Given the description of an element on the screen output the (x, y) to click on. 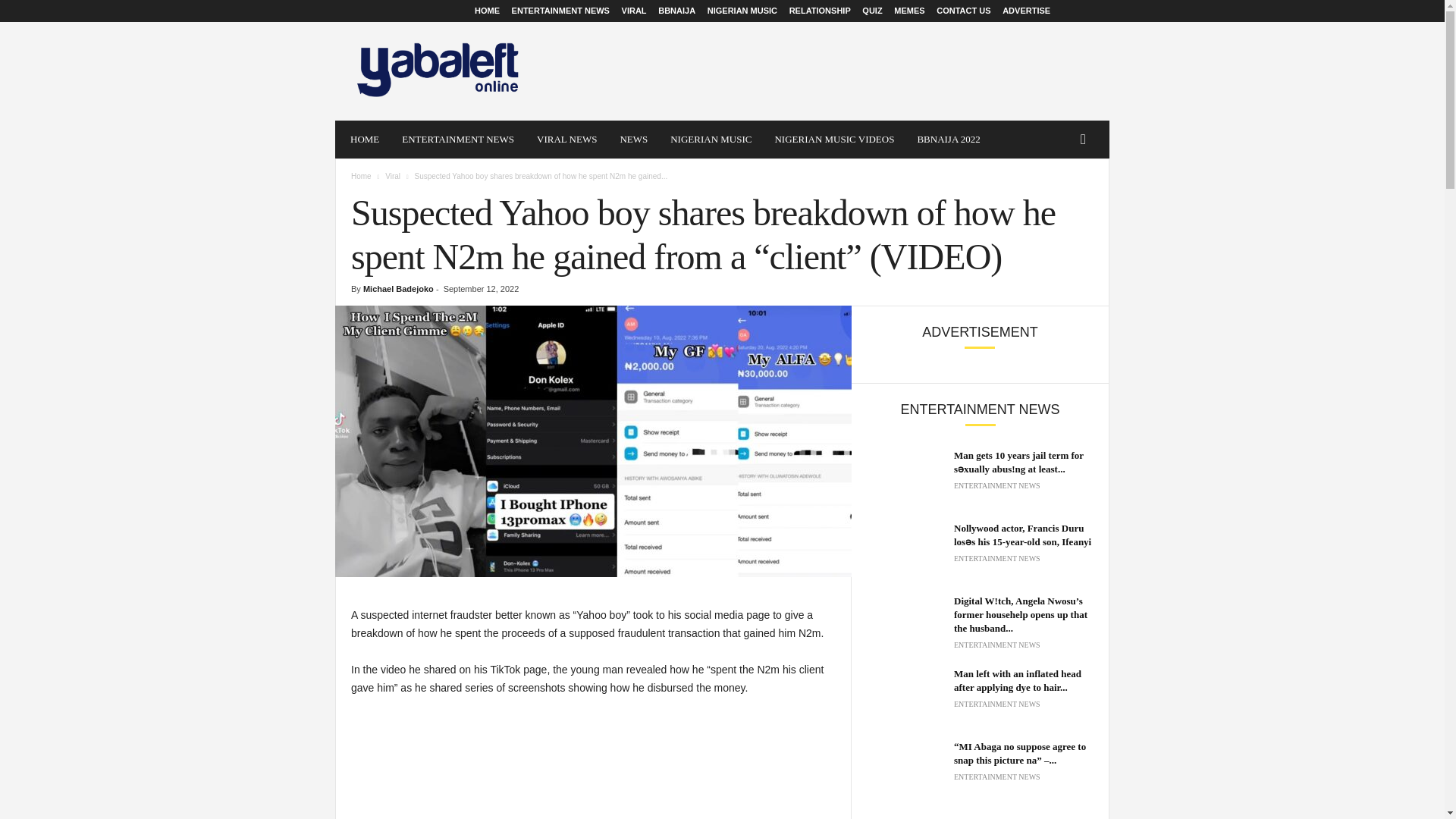
YabaLeftOnline (437, 70)
BBNAIJA 2022 (948, 139)
HOME (364, 139)
VIRAL (633, 10)
BBNAIJA (676, 10)
Viral (392, 175)
ENTERTAINMENT NEWS (457, 139)
NIGERIAN MUSIC (742, 10)
NIGERIAN MUSIC (710, 139)
